Given the description of an element on the screen output the (x, y) to click on. 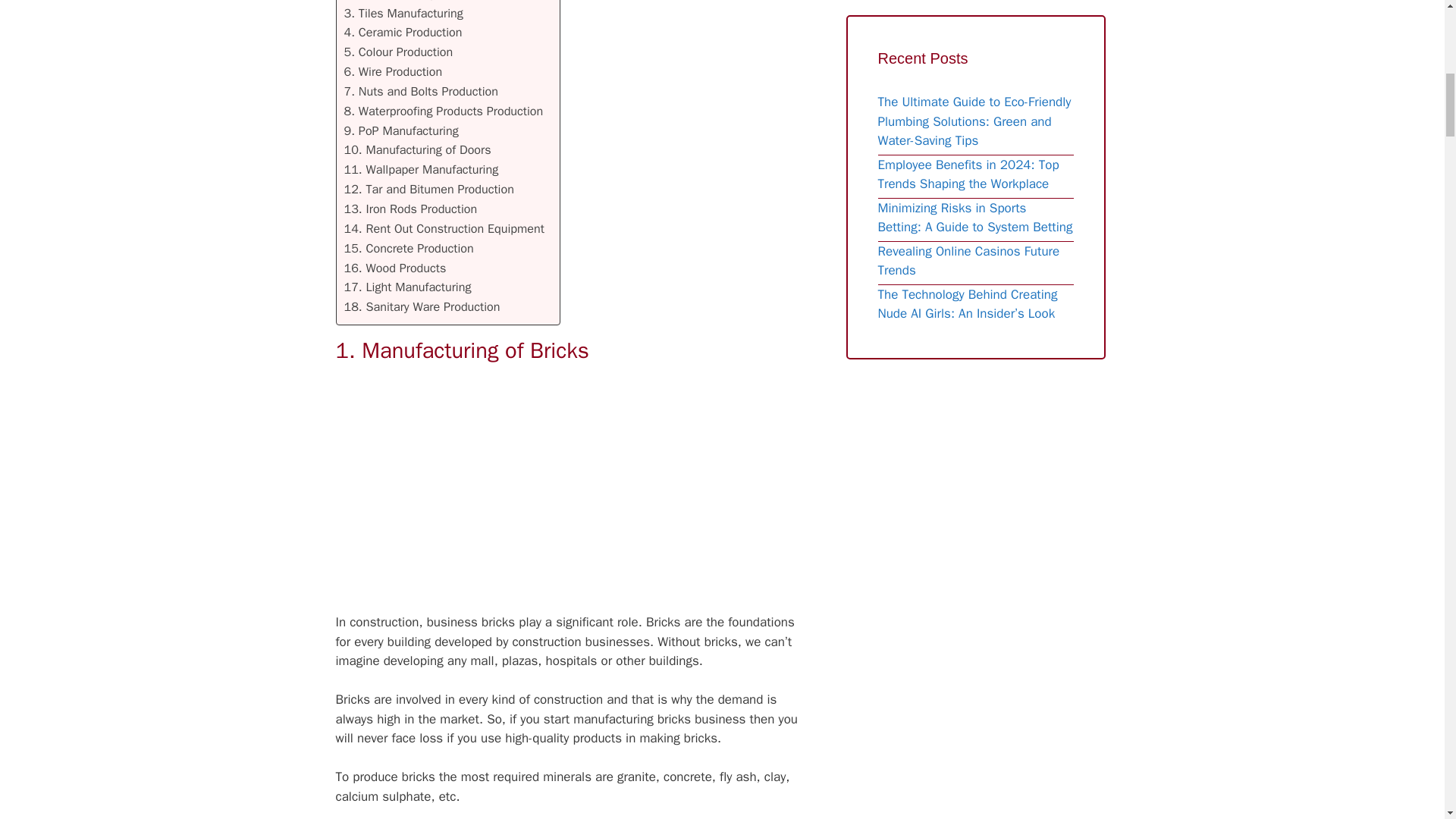
3. Tiles Manufacturing (403, 13)
6. Wire Production (392, 71)
10. Manufacturing of Doors (417, 149)
9. PoP Manufacturing (400, 130)
8. Waterproofing Products Production (443, 111)
7. Nuts and Bolts Production (420, 91)
2. Manufacturing Blocks of Cement (437, 2)
4. Ceramic Production (403, 32)
5. Colour Production (397, 52)
